Given the description of an element on the screen output the (x, y) to click on. 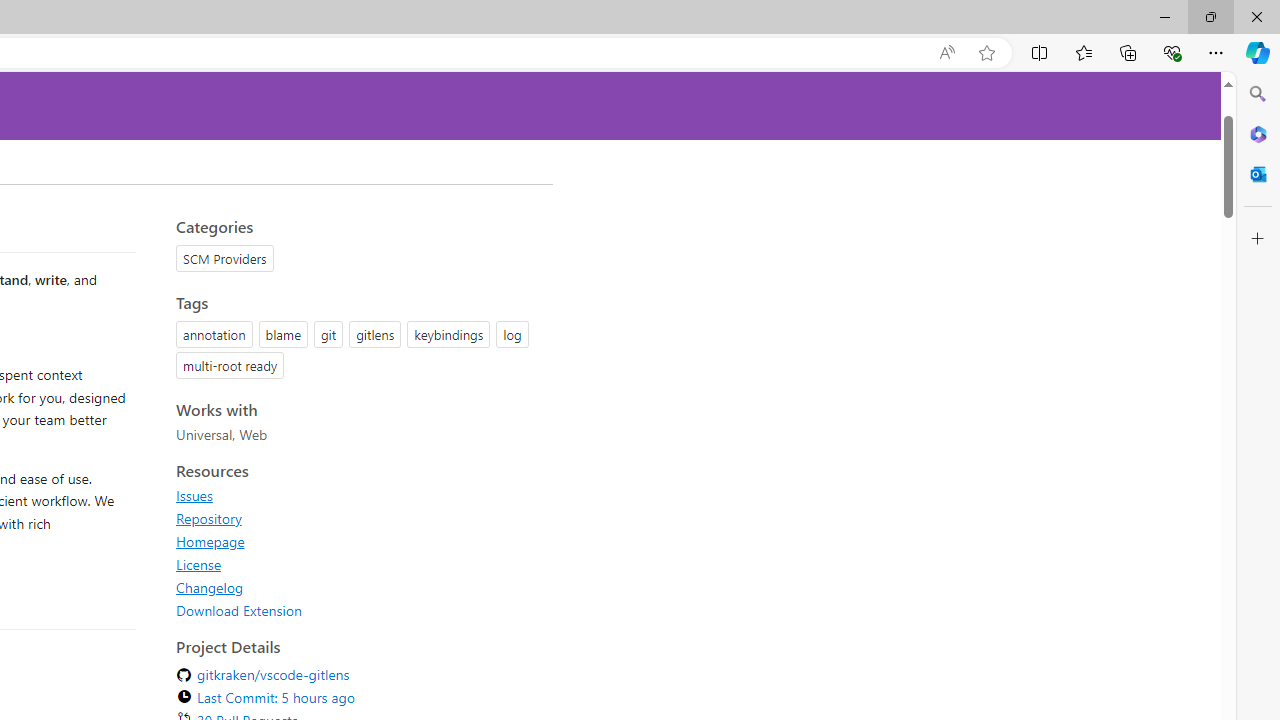
Issues (358, 495)
Homepage (358, 541)
Repository (358, 518)
Changelog (210, 587)
License (198, 564)
